Given the description of an element on the screen output the (x, y) to click on. 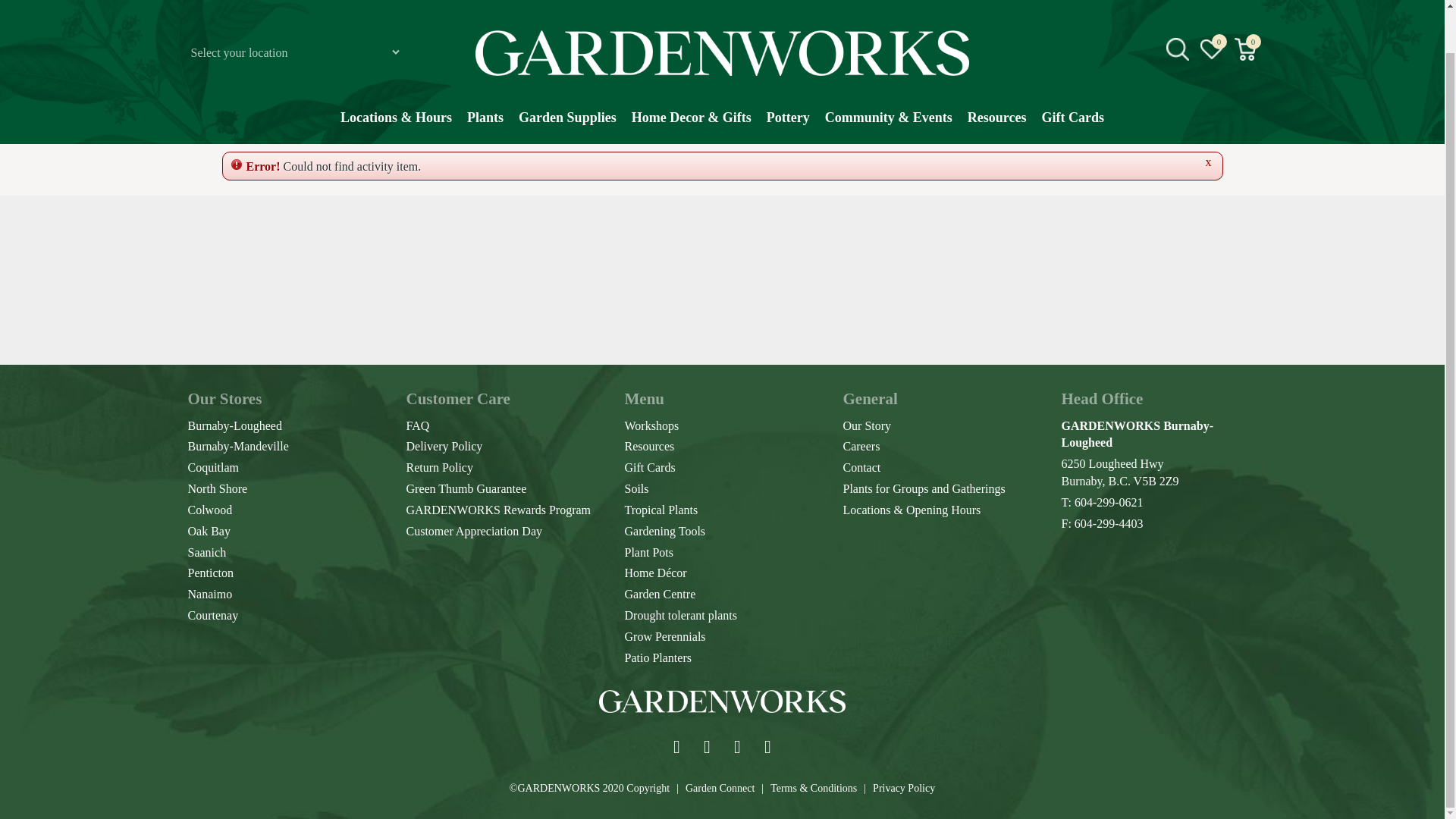
Plants (485, 79)
GARDENWORKS garden centres (722, 15)
Garden Supplies (566, 79)
Plants (485, 79)
No items in wishlist (1211, 7)
Home (245, 117)
src (1177, 7)
Search (1241, 122)
Home (245, 117)
Go to the wishlist (1211, 7)
